Given the description of an element on the screen output the (x, y) to click on. 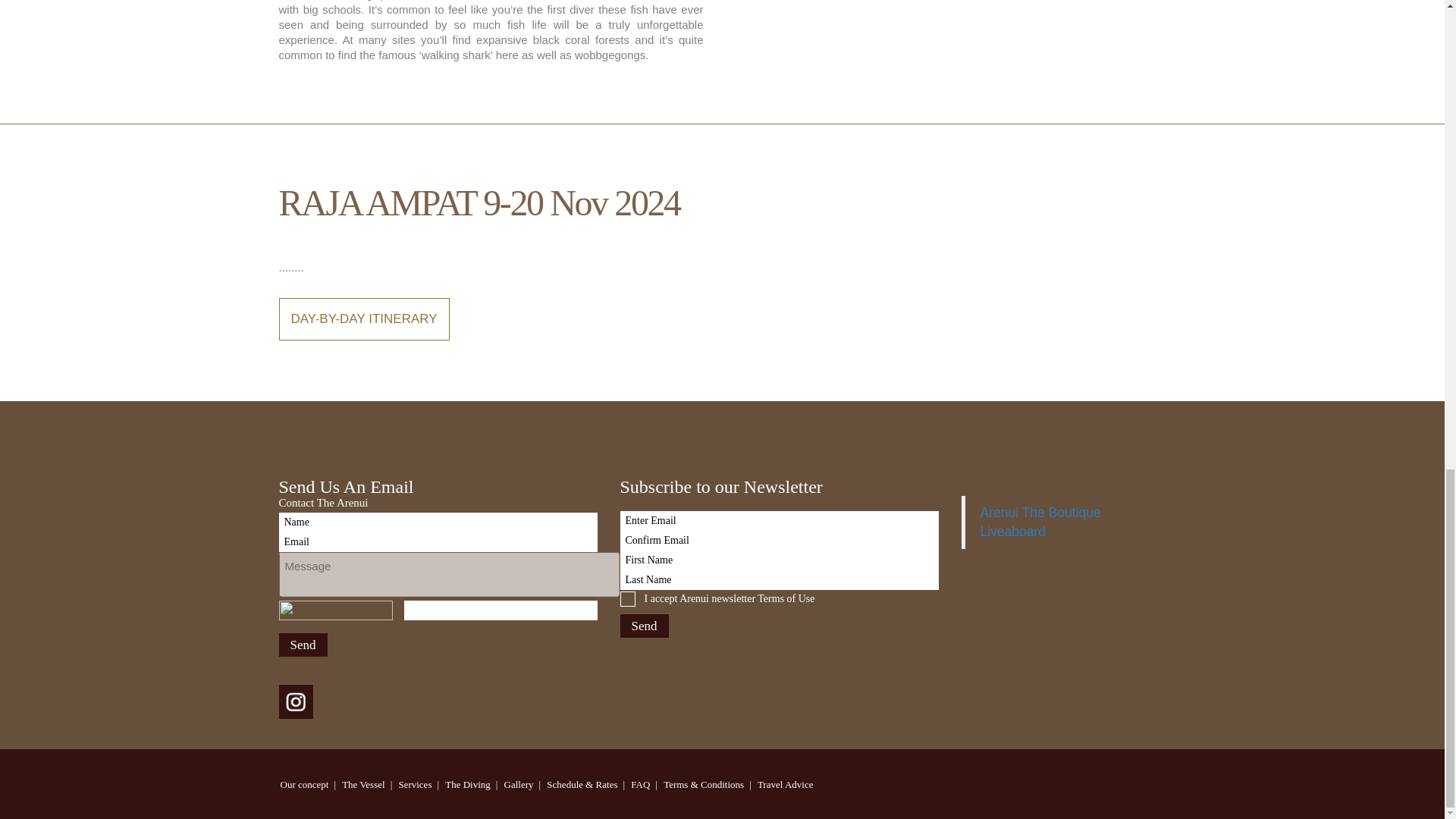
Send (644, 626)
Our concept (305, 784)
Send (303, 644)
The Vessel (363, 784)
Send (644, 626)
DAY-BY-DAY ITINERARY (364, 319)
Send (303, 644)
Arenui The Boutique Liveaboard (1039, 521)
